Given the description of an element on the screen output the (x, y) to click on. 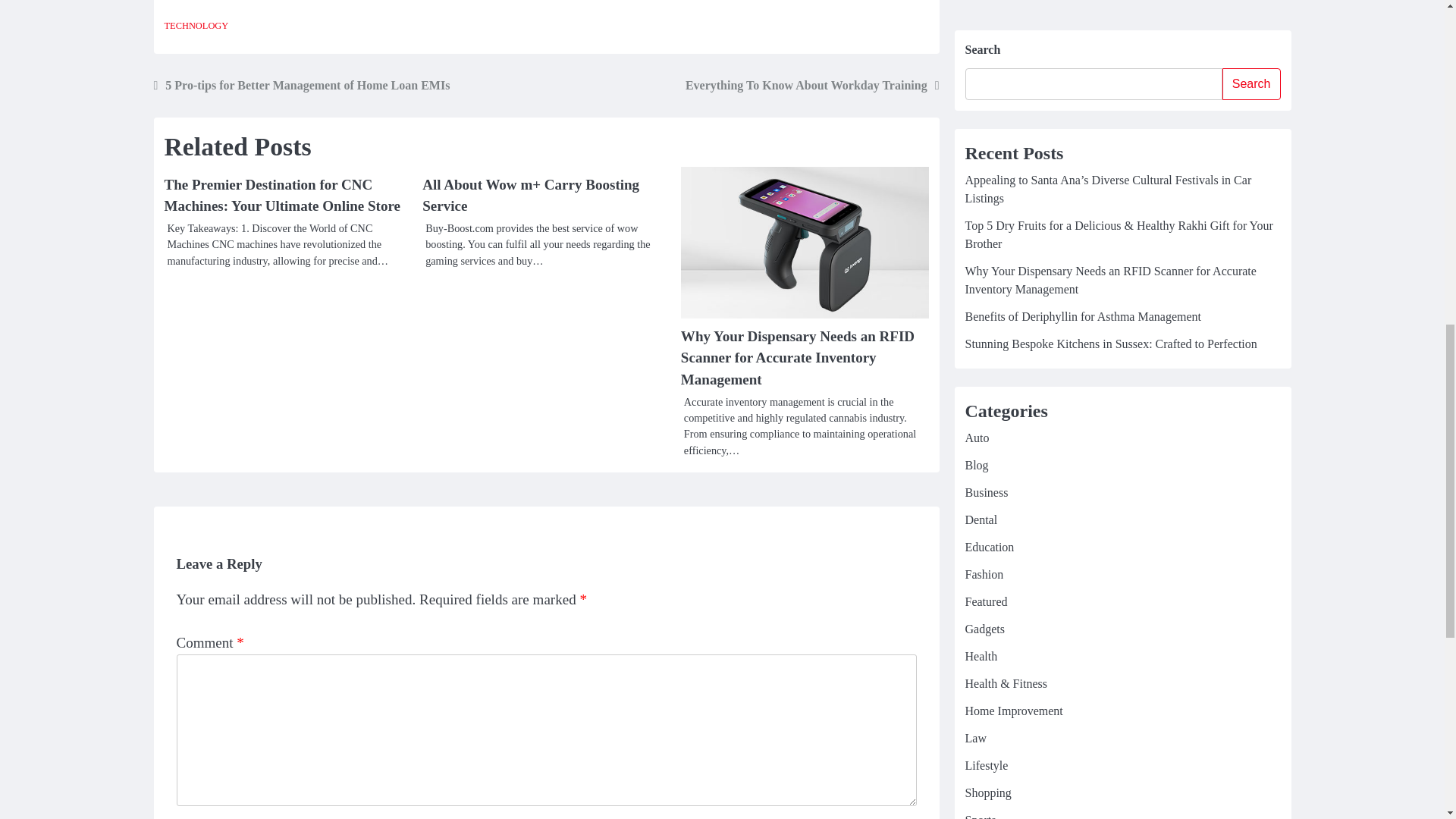
5 Pro-tips for Better Management of Home Loan EMIs (300, 85)
Everything To Know About Workday Training (812, 85)
TECHNOLOGY (195, 25)
